Given the description of an element on the screen output the (x, y) to click on. 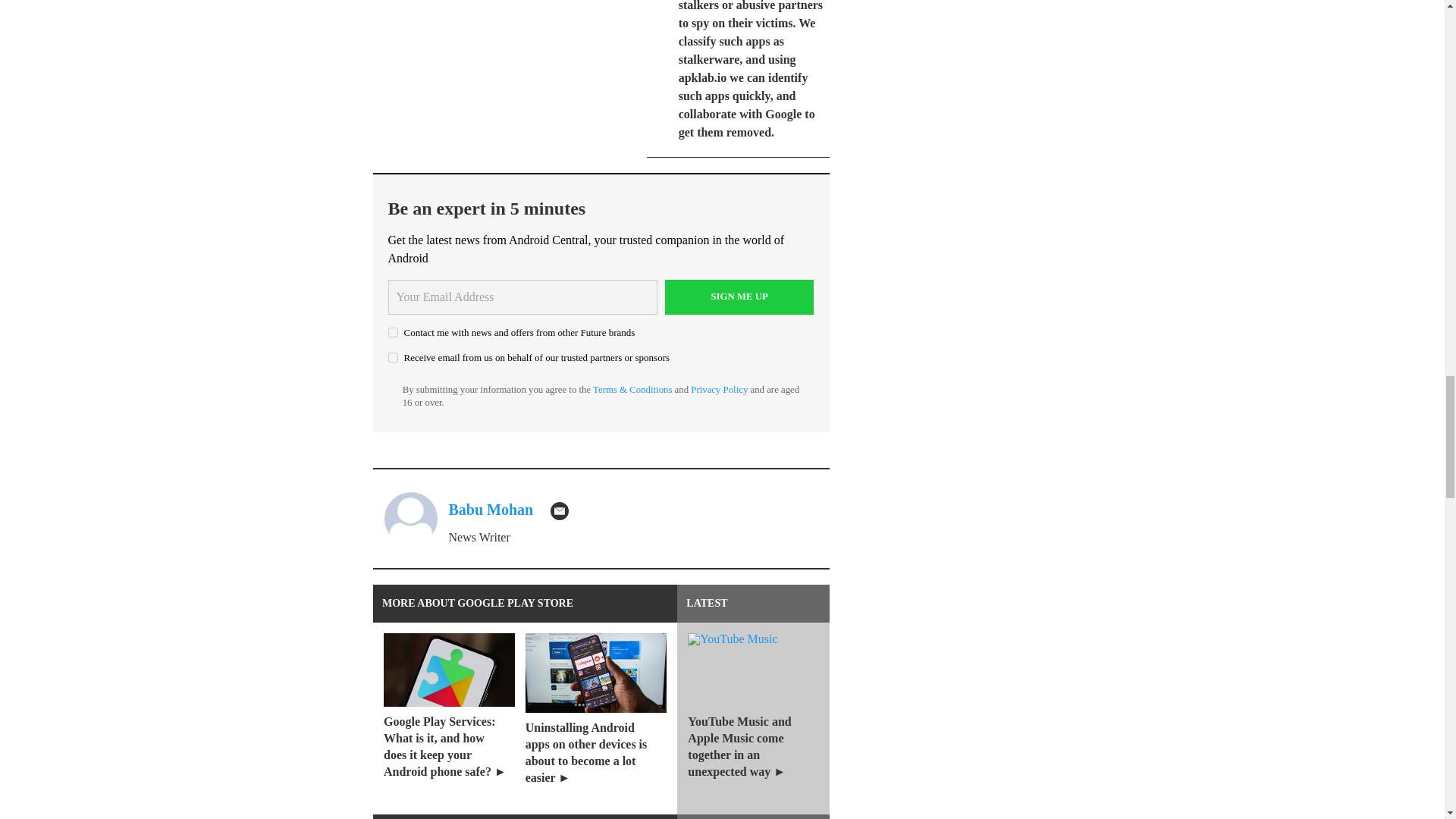
Sign me up (739, 297)
on (392, 357)
on (392, 332)
